Given the description of an element on the screen output the (x, y) to click on. 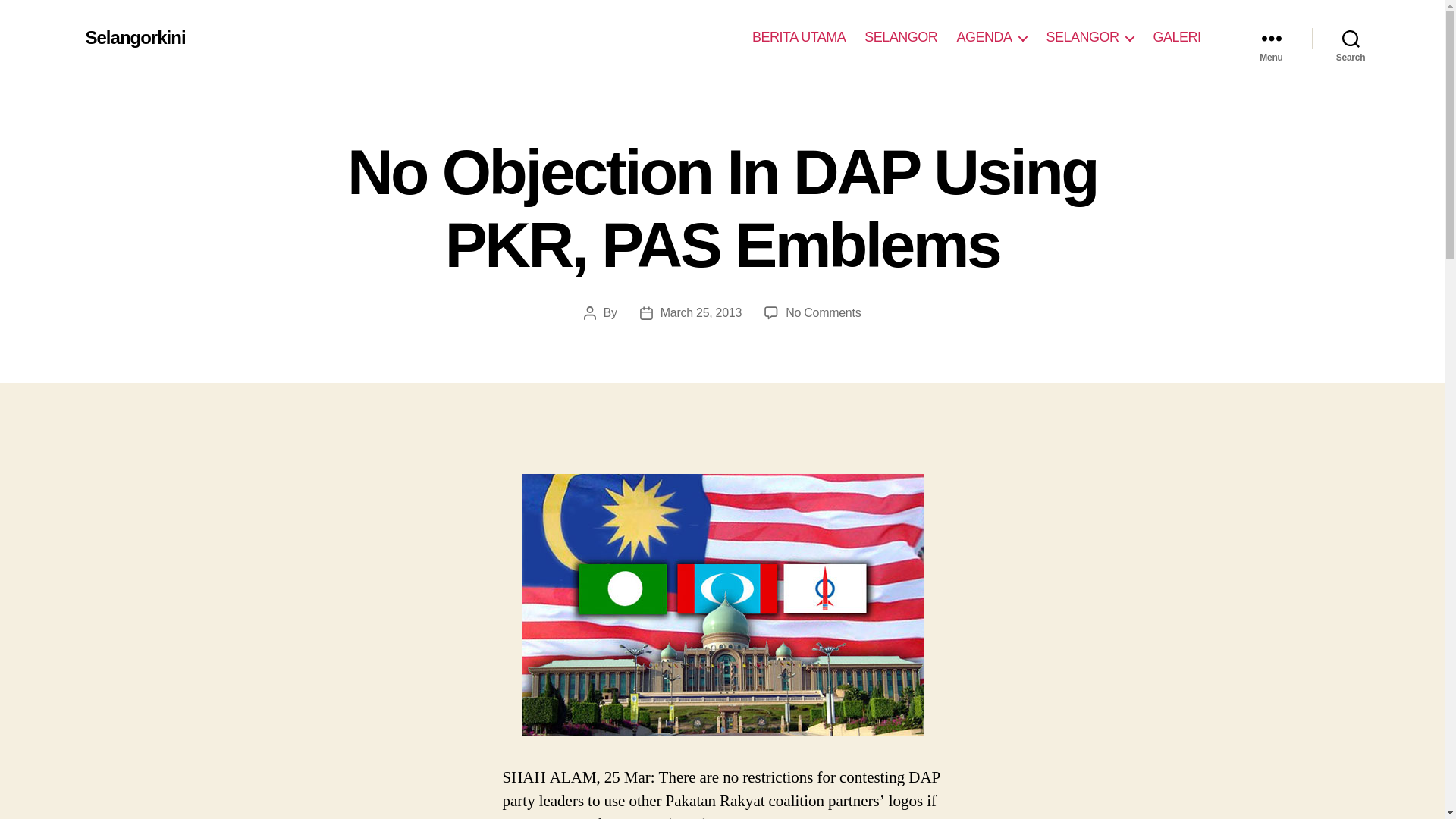
SELANGOR (900, 37)
Search (1350, 37)
Selangorkini (134, 37)
Menu (1271, 37)
AGENDA (991, 37)
SELANGOR (1089, 37)
GALERI (1176, 37)
BERITA UTAMA (798, 37)
